Given the description of an element on the screen output the (x, y) to click on. 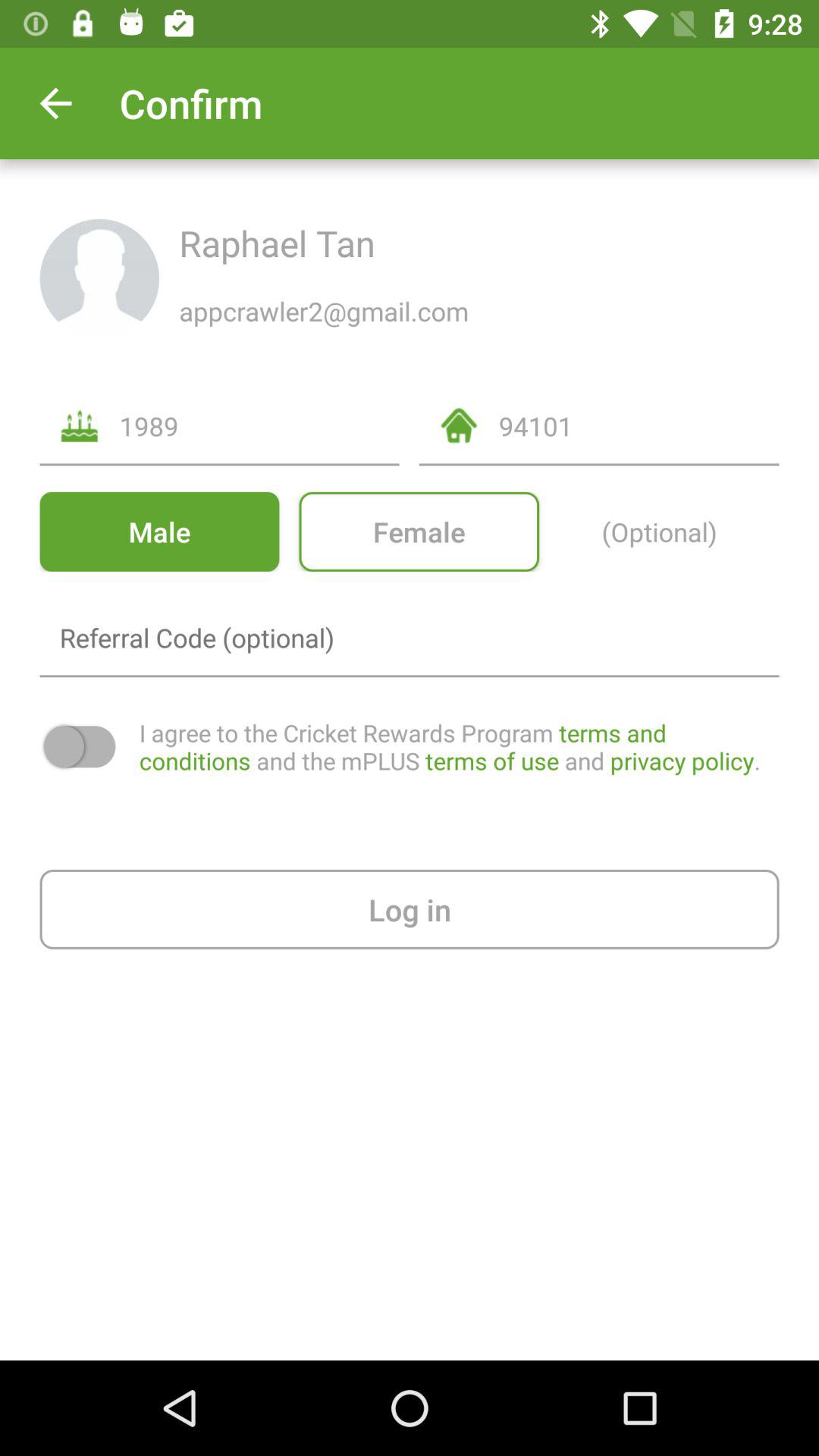
open icon above the female item (638, 425)
